Given the description of an element on the screen output the (x, y) to click on. 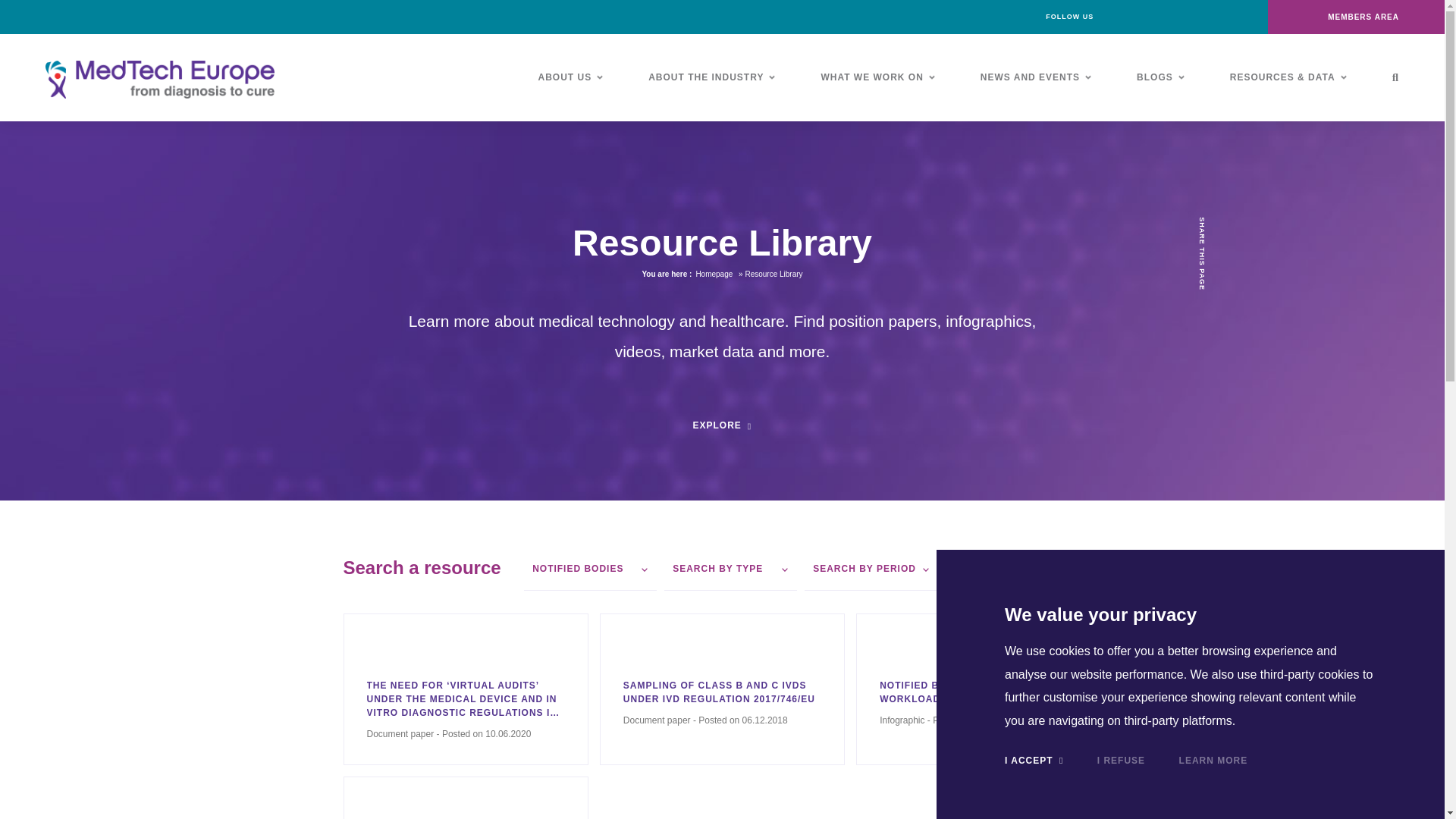
I ACCEPT (1033, 760)
LEARN MORE (1213, 760)
Share on Email (1202, 397)
Facebook (1117, 17)
MEMBERS AREA (1356, 17)
Print (1202, 425)
Linkedin (1152, 17)
Share on Linkedin (1202, 316)
Youtube (1220, 17)
Share on Facebook (1202, 370)
